Given the description of an element on the screen output the (x, y) to click on. 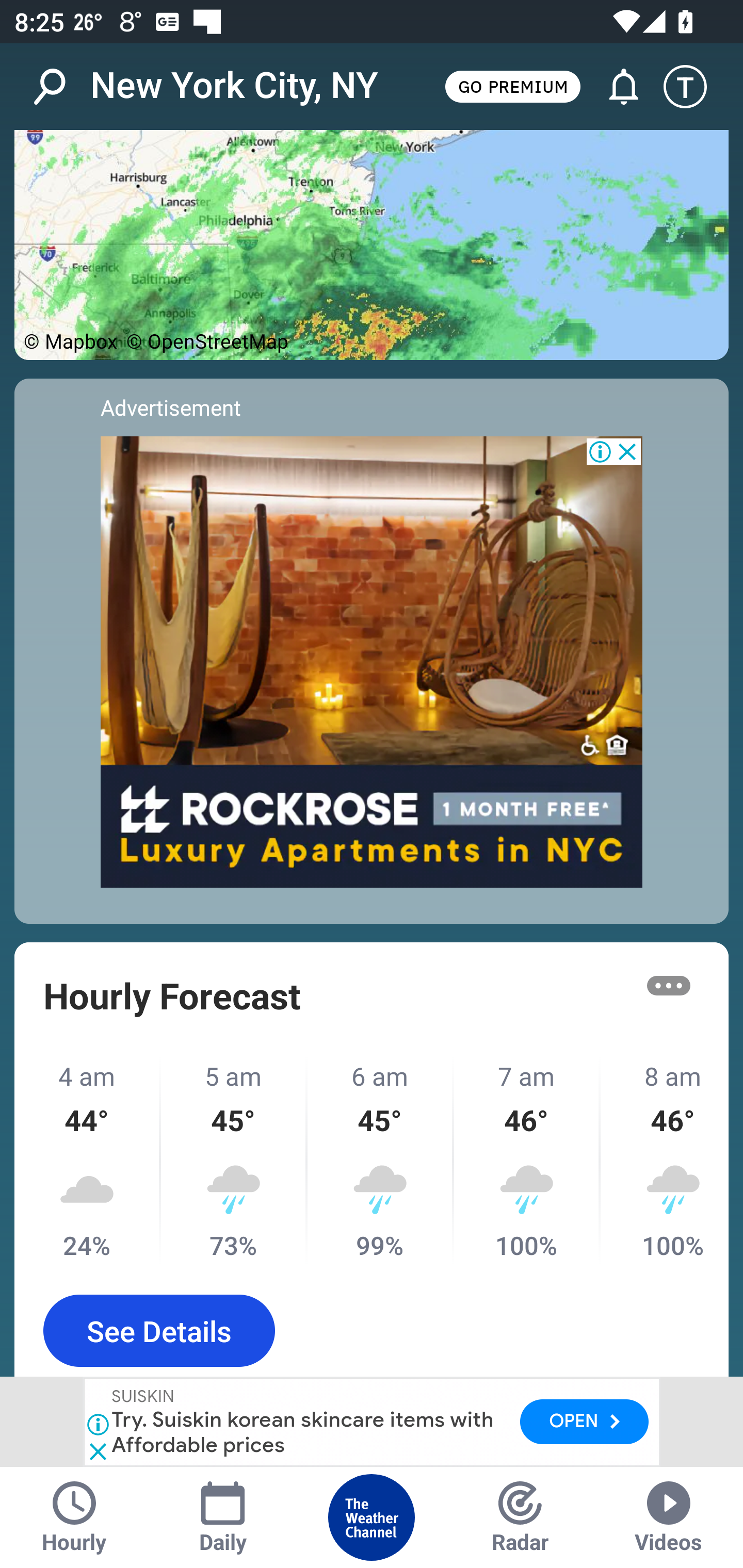
Search (59, 86)
Go to Alerts and Notifications (614, 86)
Setting icon T (694, 86)
New York City, NY (234, 85)
GO PREMIUM (512, 85)
See Map Details (371, 245)
More options (668, 985)
4 am 44° 24% (87, 1160)
5 am 45° 73% (234, 1160)
6 am 45° 99% (380, 1160)
7 am 46° 100% (526, 1160)
8 am 46° 100% (664, 1160)
See Details (158, 1331)
SUISKIN (143, 1397)
OPEN (584, 1421)
Hourly Tab Hourly (74, 1517)
Daily Tab Daily (222, 1517)
Radar Tab Radar (519, 1517)
Videos Tab Videos (668, 1517)
